Given the description of an element on the screen output the (x, y) to click on. 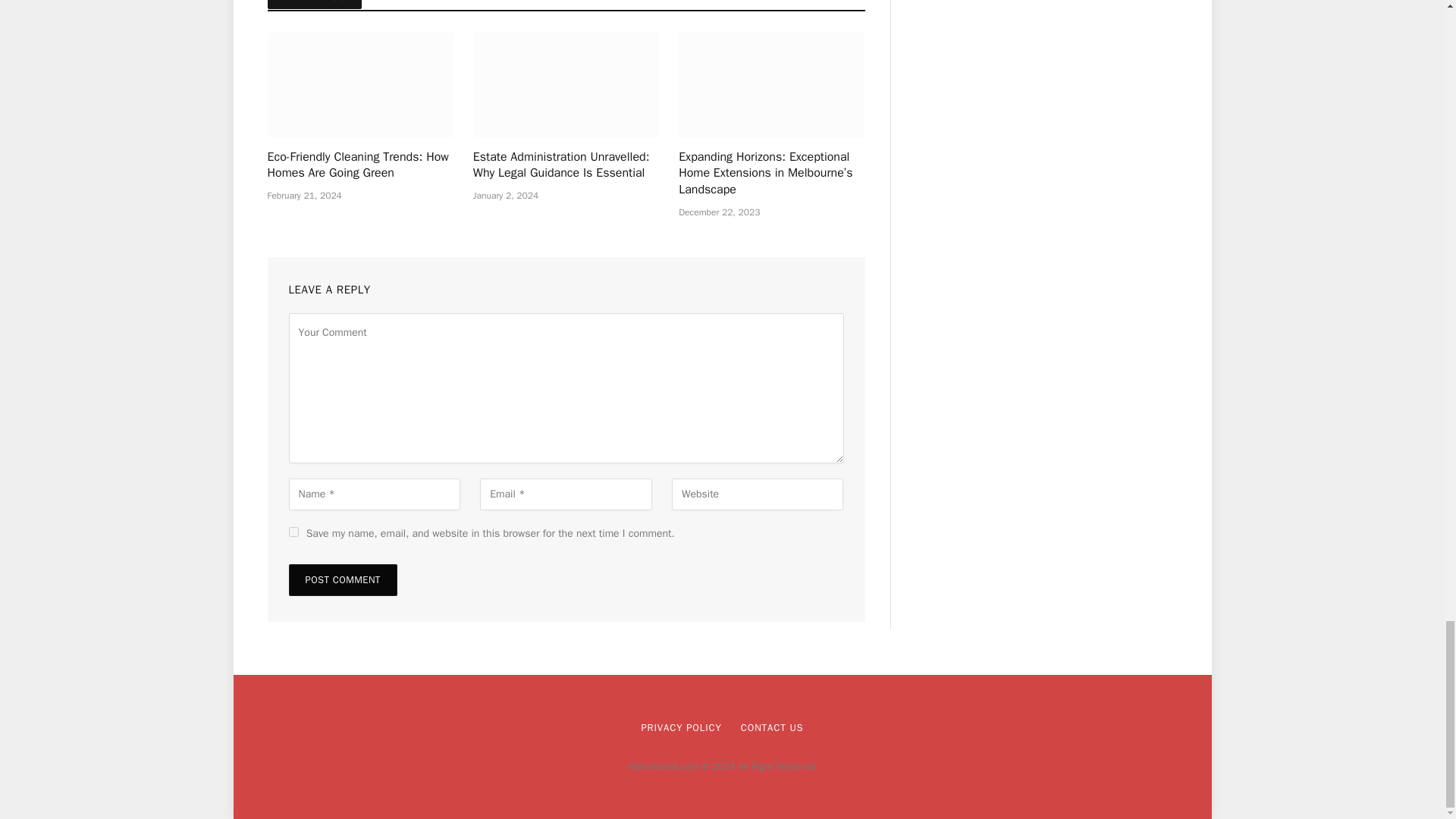
Post Comment (342, 580)
yes (293, 532)
